Given the description of an element on the screen output the (x, y) to click on. 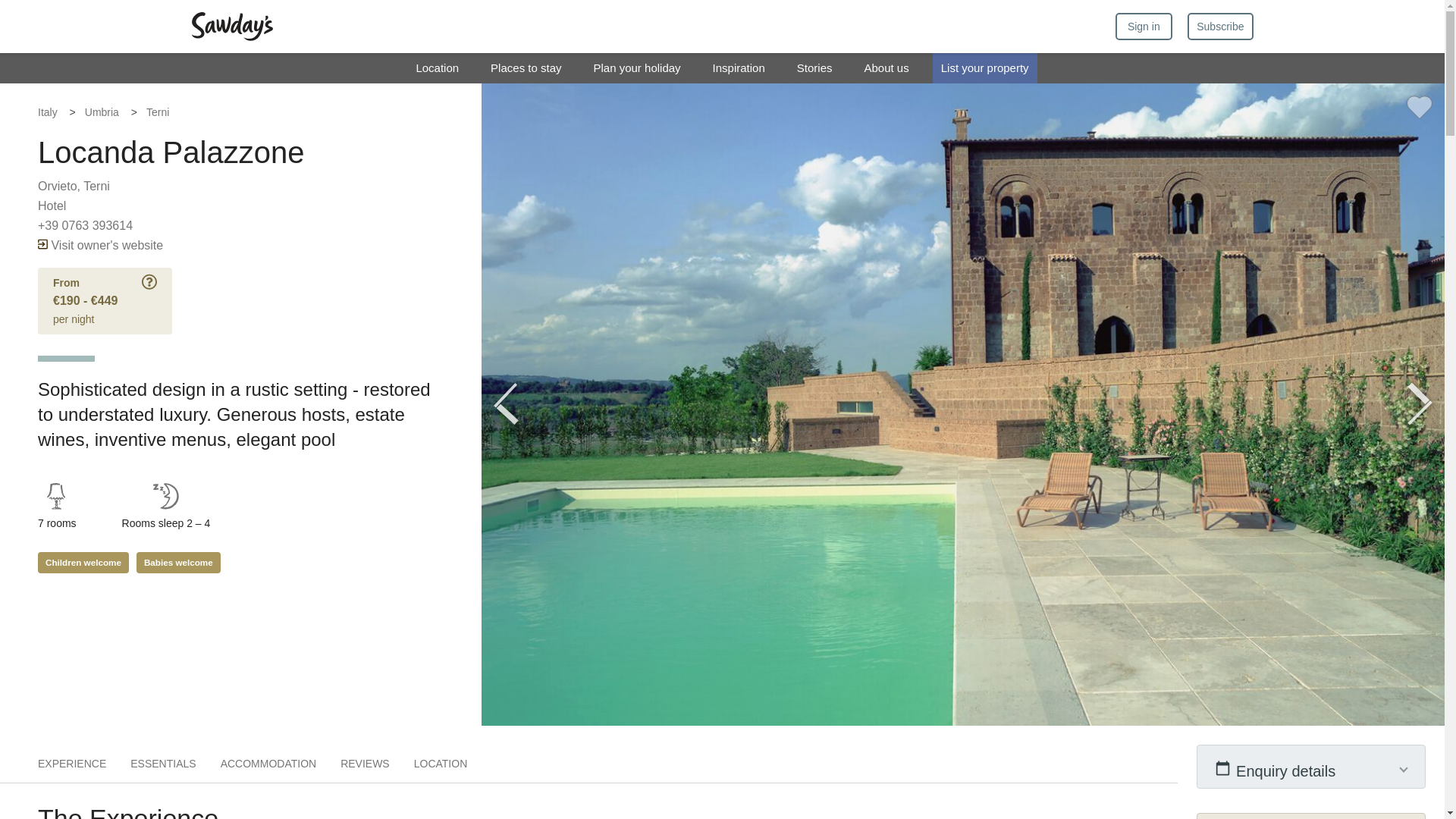
Subscribe (1220, 26)
Sign in (1143, 26)
Sawday's (231, 26)
Bedroom (56, 496)
Sign in (1143, 26)
Sawday's (231, 26)
Sleeps (165, 496)
Favourite (1419, 106)
Subscribe (1220, 26)
